Given the description of an element on the screen output the (x, y) to click on. 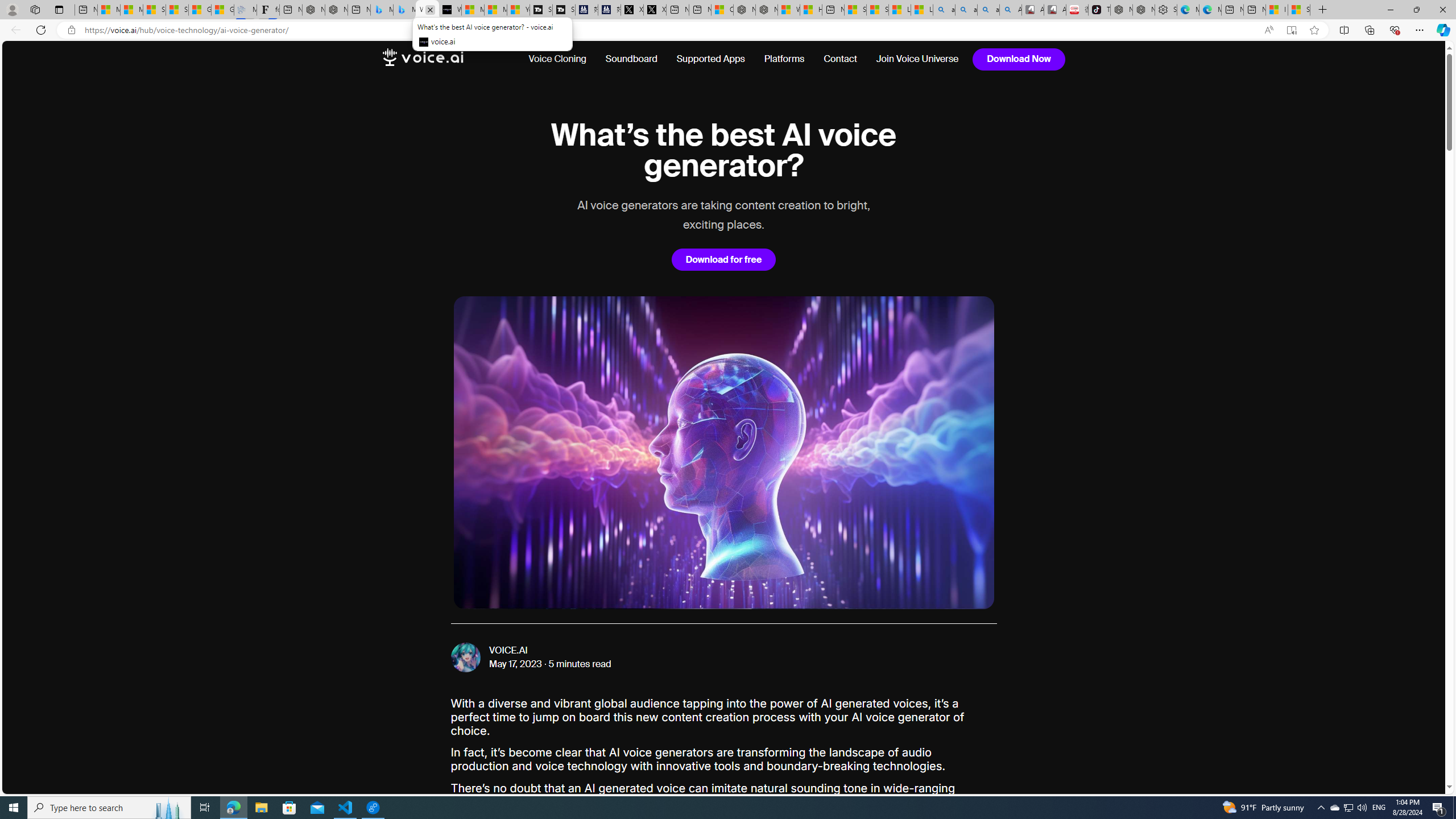
5 minutes read (579, 663)
Voice Cloning (561, 59)
Gilma and Hector both pose tropical trouble for Hawaii (222, 9)
Voice Cloning (557, 59)
Join Voice Universe (912, 59)
Nordace - Best Sellers (1121, 9)
